Given the description of an element on the screen output the (x, y) to click on. 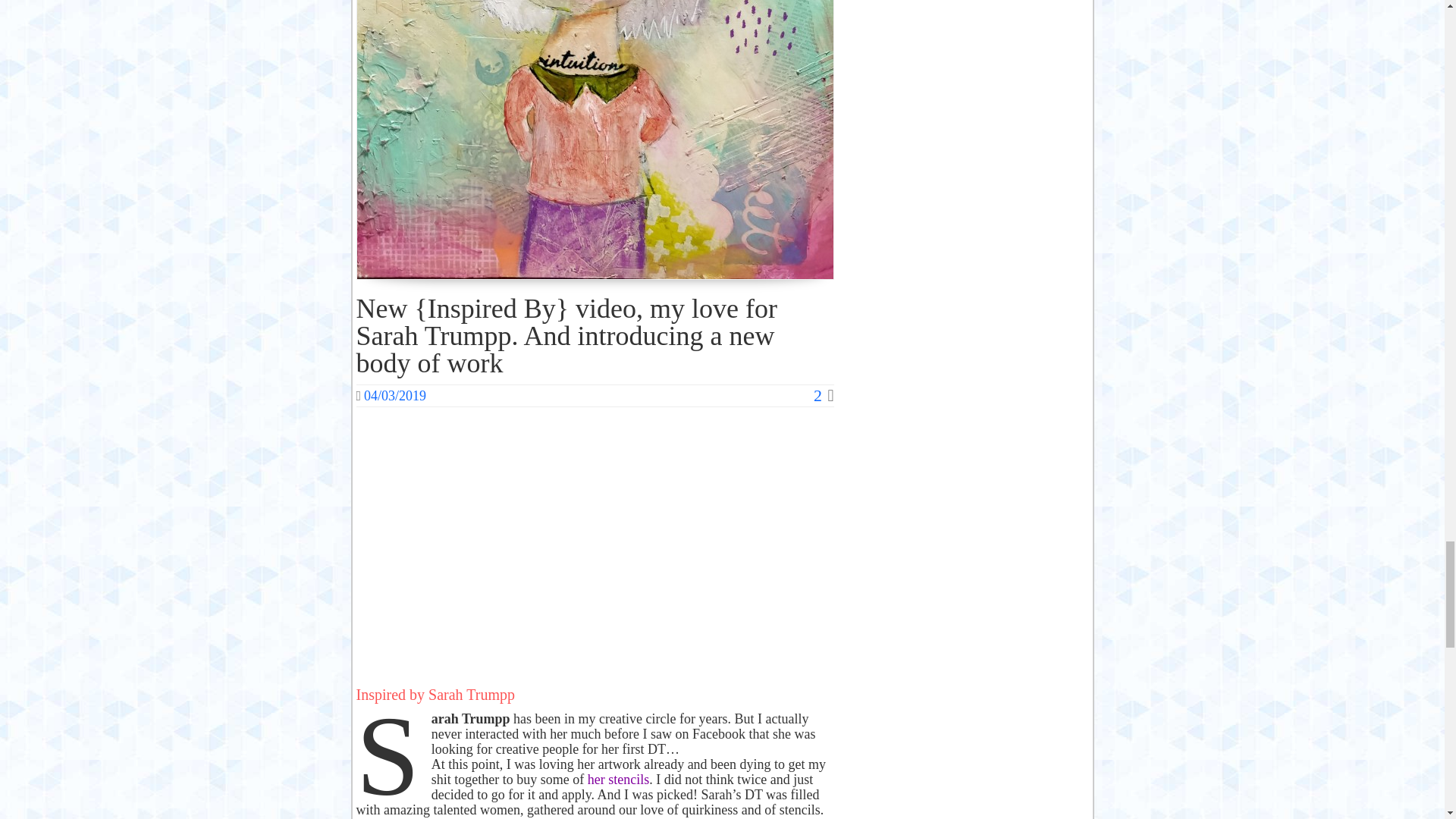
2 (823, 394)
her stencils (618, 779)
